Given the description of an element on the screen output the (x, y) to click on. 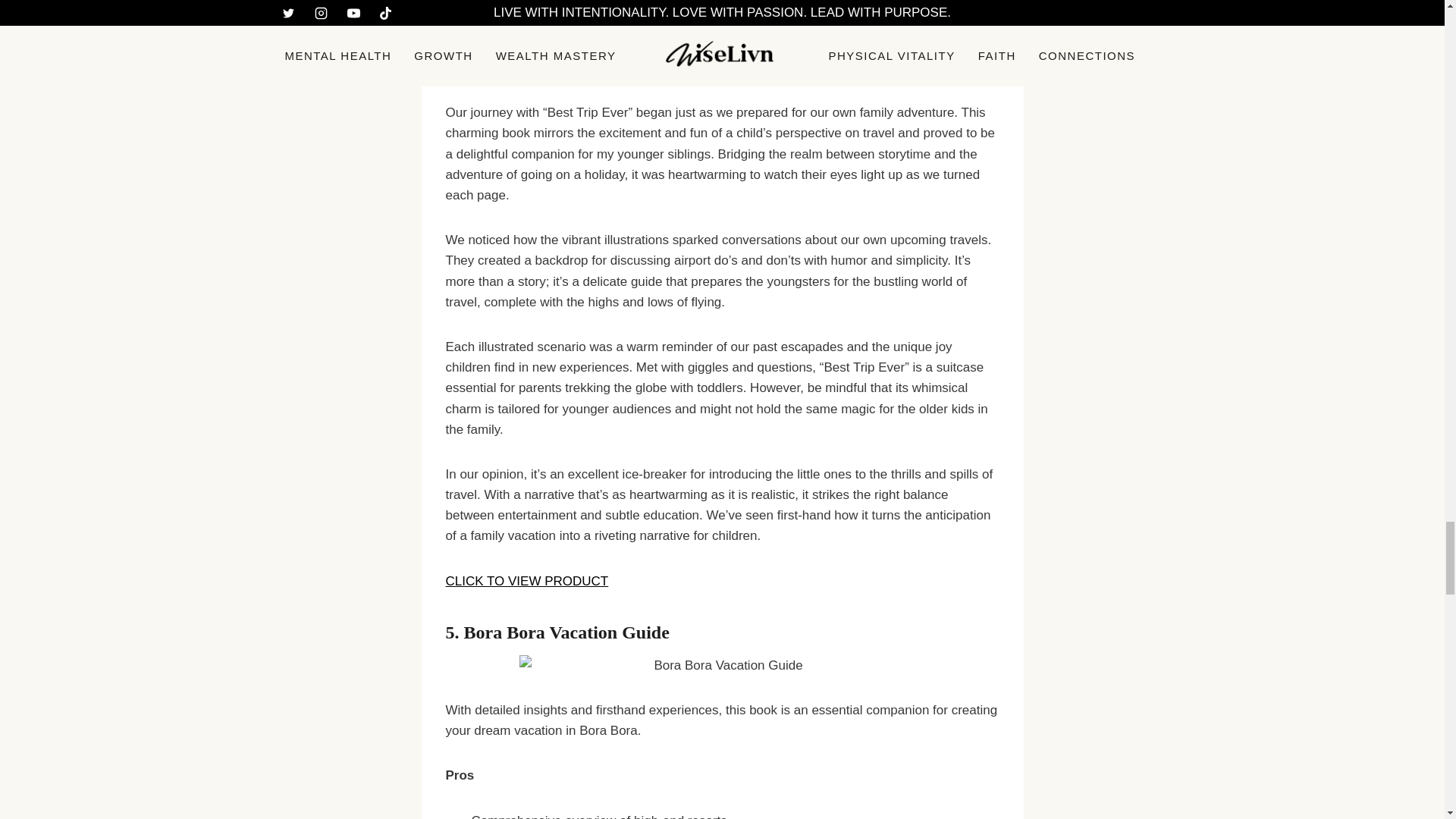
CLICK TO VIEW PRODUCT (526, 581)
Bora Bora Vacation Guide (566, 632)
